Given the description of an element on the screen output the (x, y) to click on. 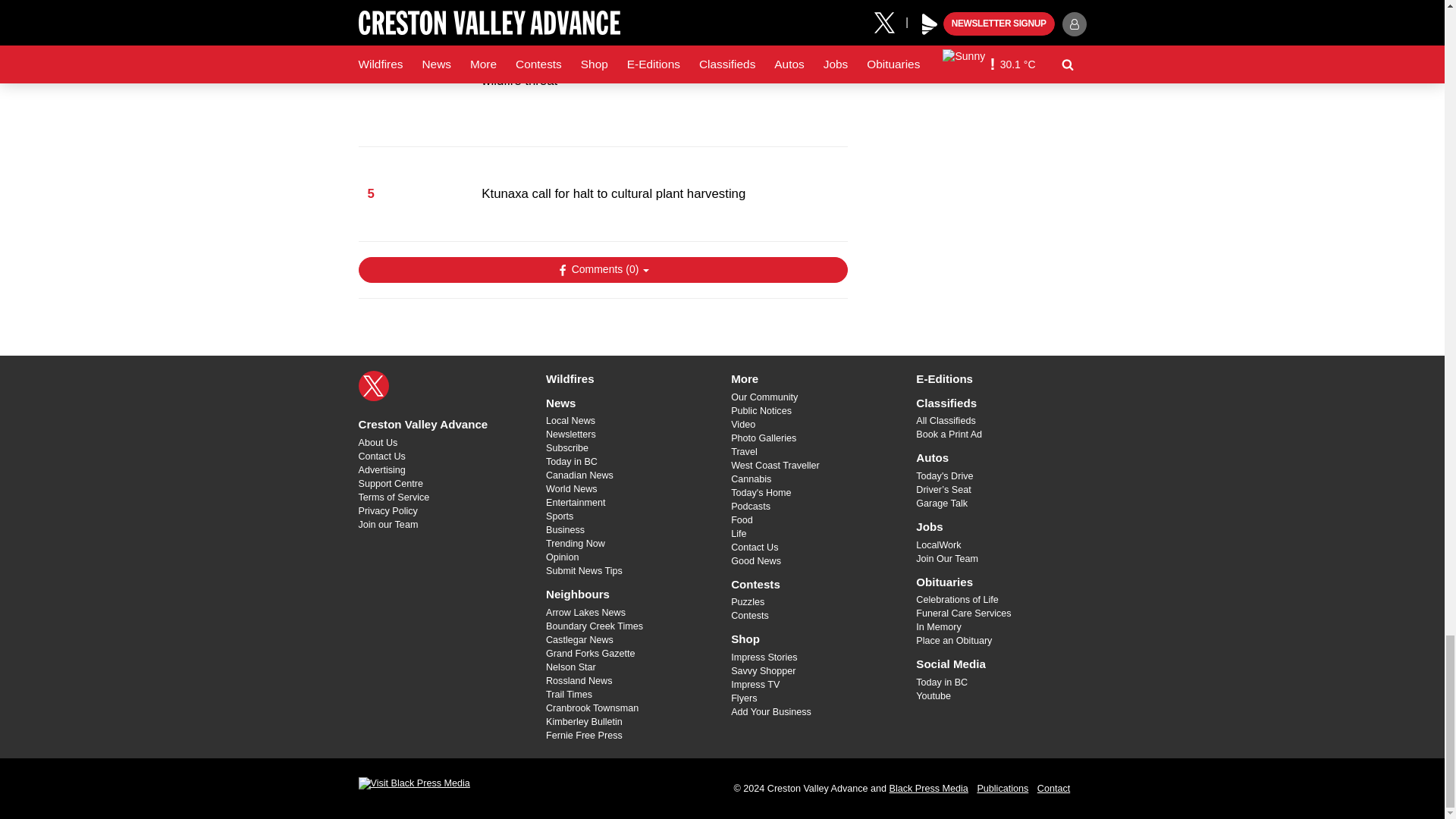
X (373, 386)
Show Comments (602, 269)
